Given the description of an element on the screen output the (x, y) to click on. 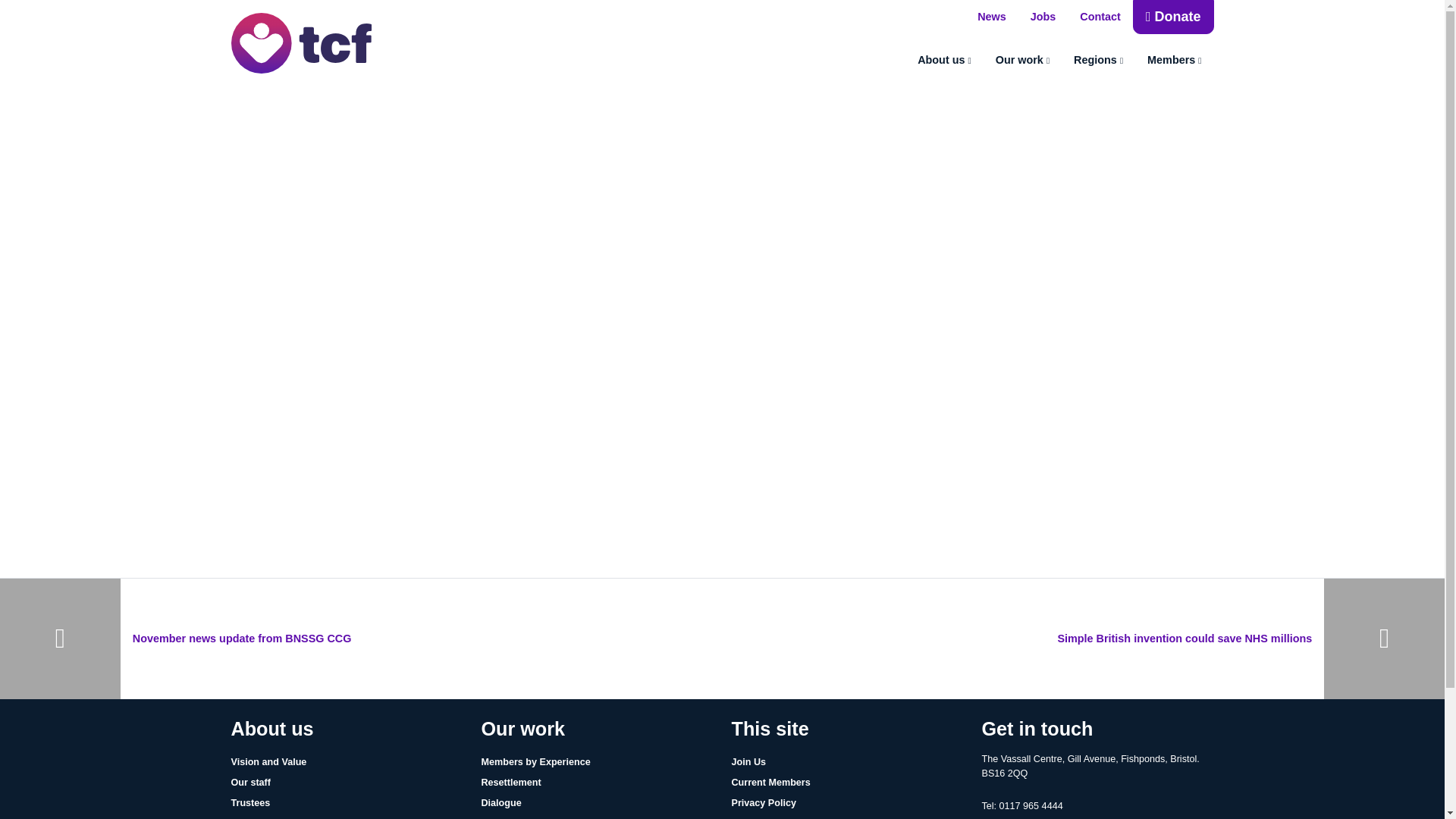
About us (944, 60)
Contact (1099, 17)
Donate (1173, 17)
Our work (1022, 60)
News (991, 17)
Jobs (1042, 17)
